Given the description of an element on the screen output the (x, y) to click on. 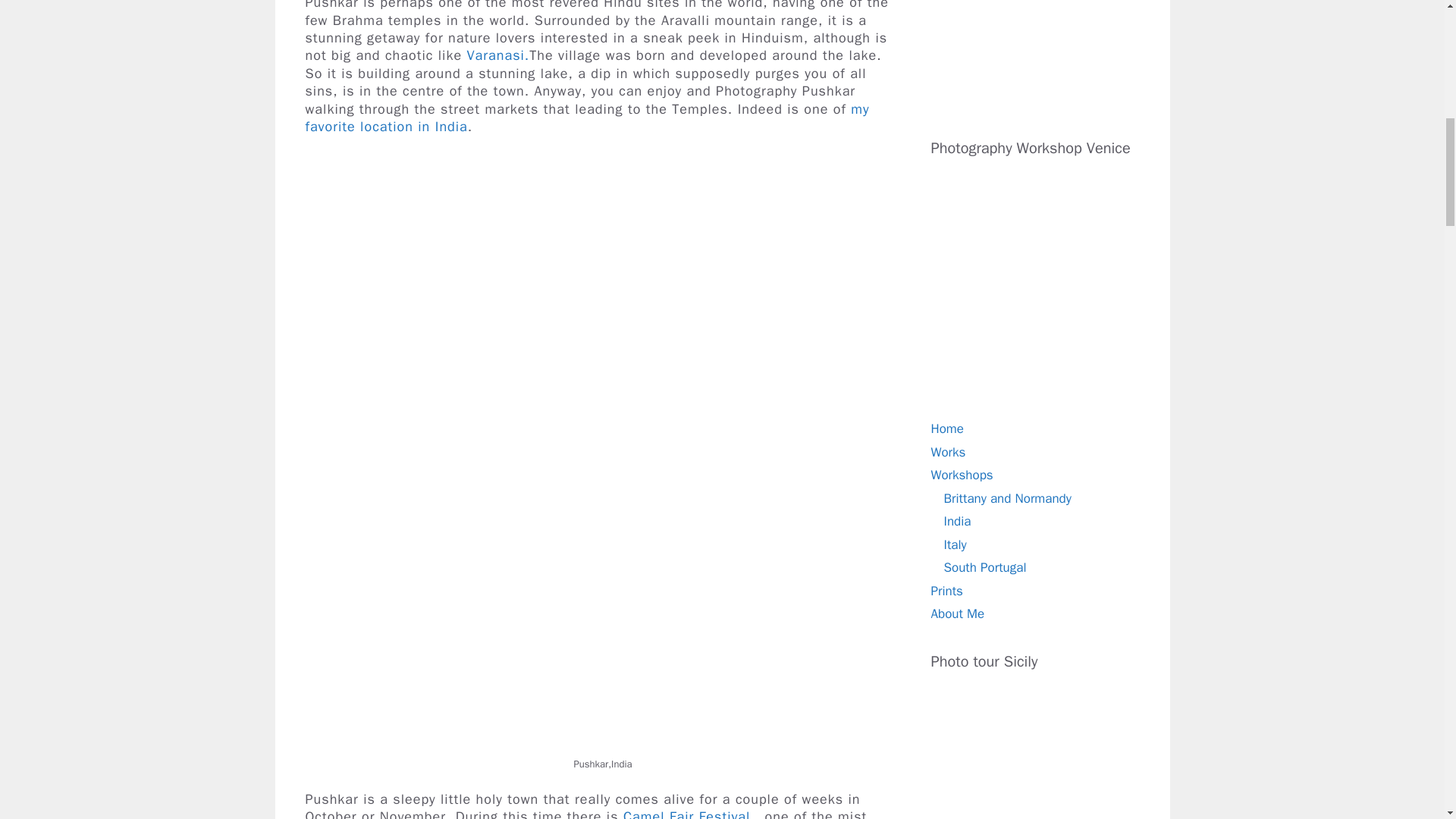
Varanasi. (498, 54)
Camel Fair Festival (686, 813)
my favorite location in India (586, 117)
